Given the description of an element on the screen output the (x, y) to click on. 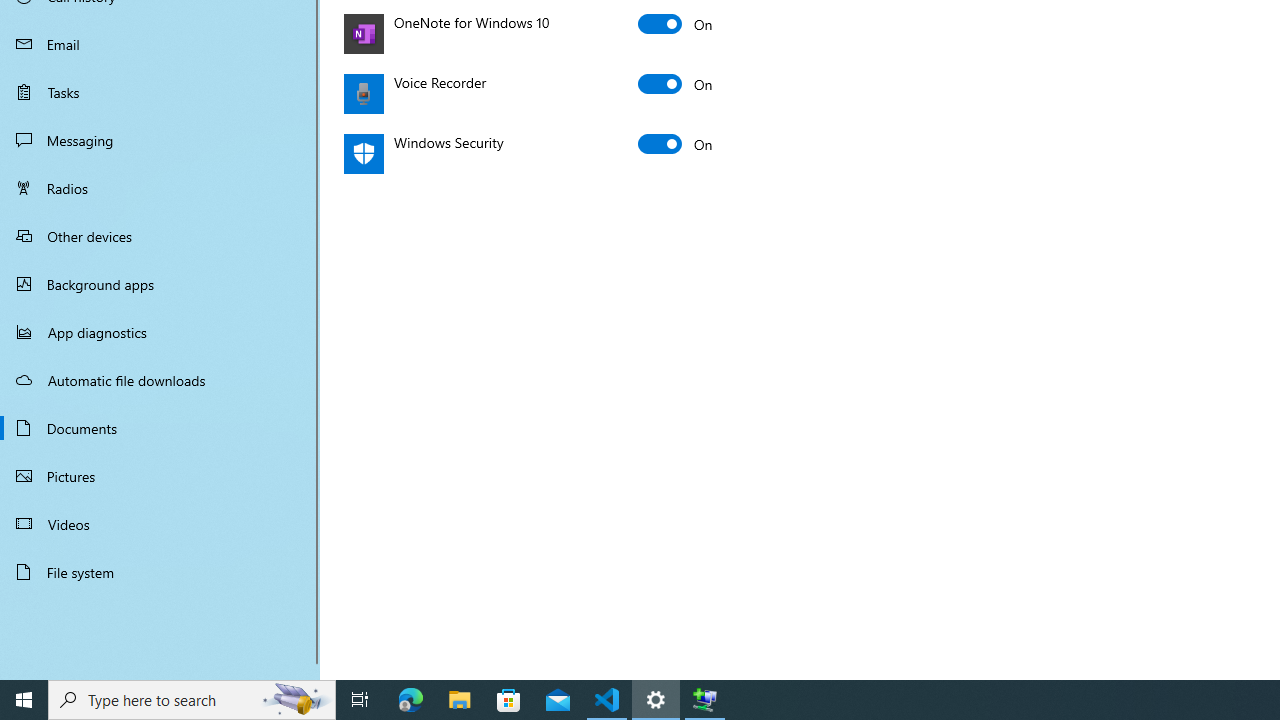
Type here to search (191, 699)
Settings - 1 running window (656, 699)
Automatic file downloads (160, 379)
Pictures (160, 475)
Windows Security (675, 143)
Search highlights icon opens search home window (295, 699)
Visual Studio Code - 1 running window (607, 699)
Microsoft Edge (411, 699)
Documents (160, 427)
Task View (359, 699)
